Given the description of an element on the screen output the (x, y) to click on. 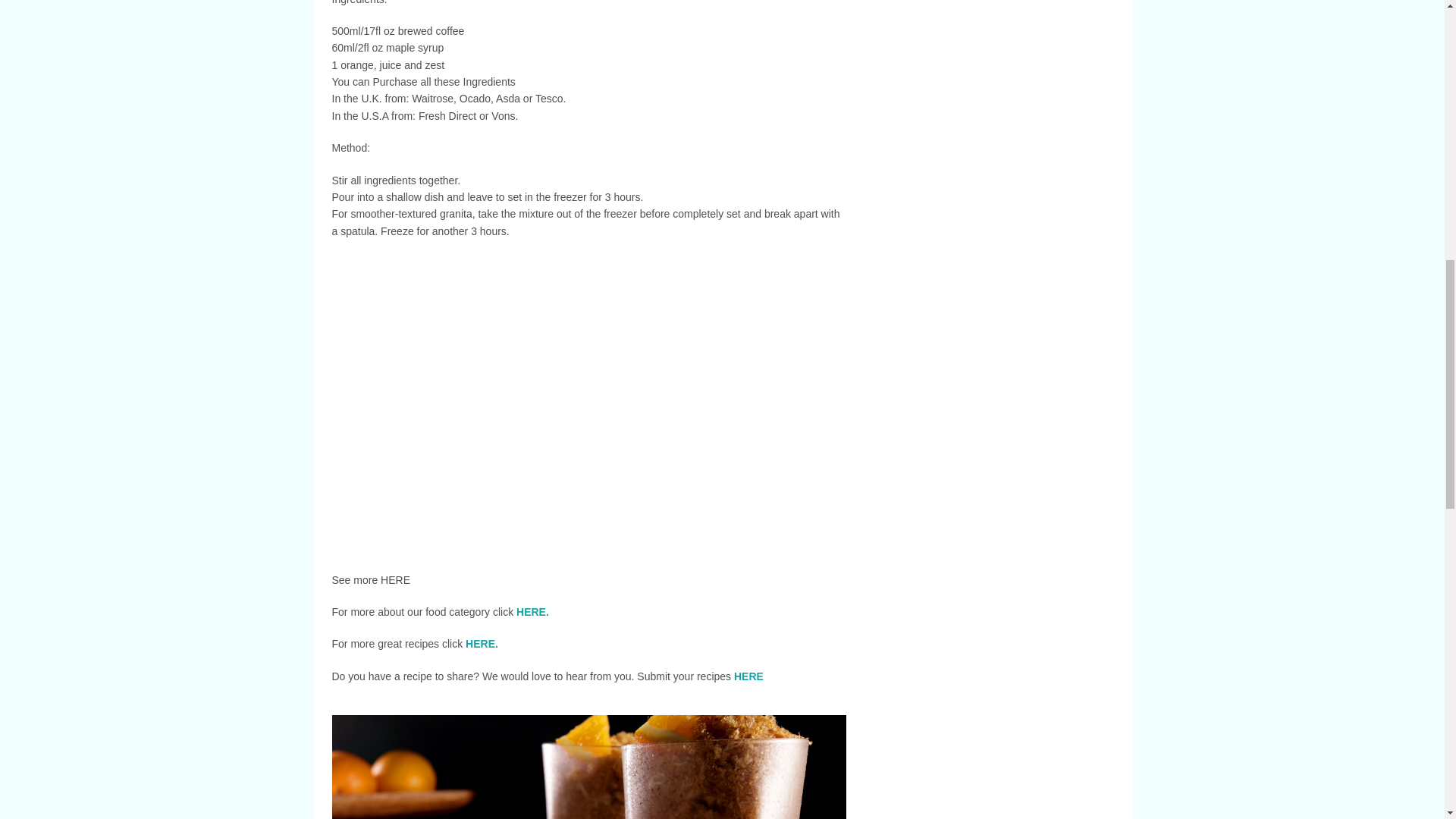
HERE. (532, 612)
HERE (747, 676)
HERE. (481, 644)
